Given the description of an element on the screen output the (x, y) to click on. 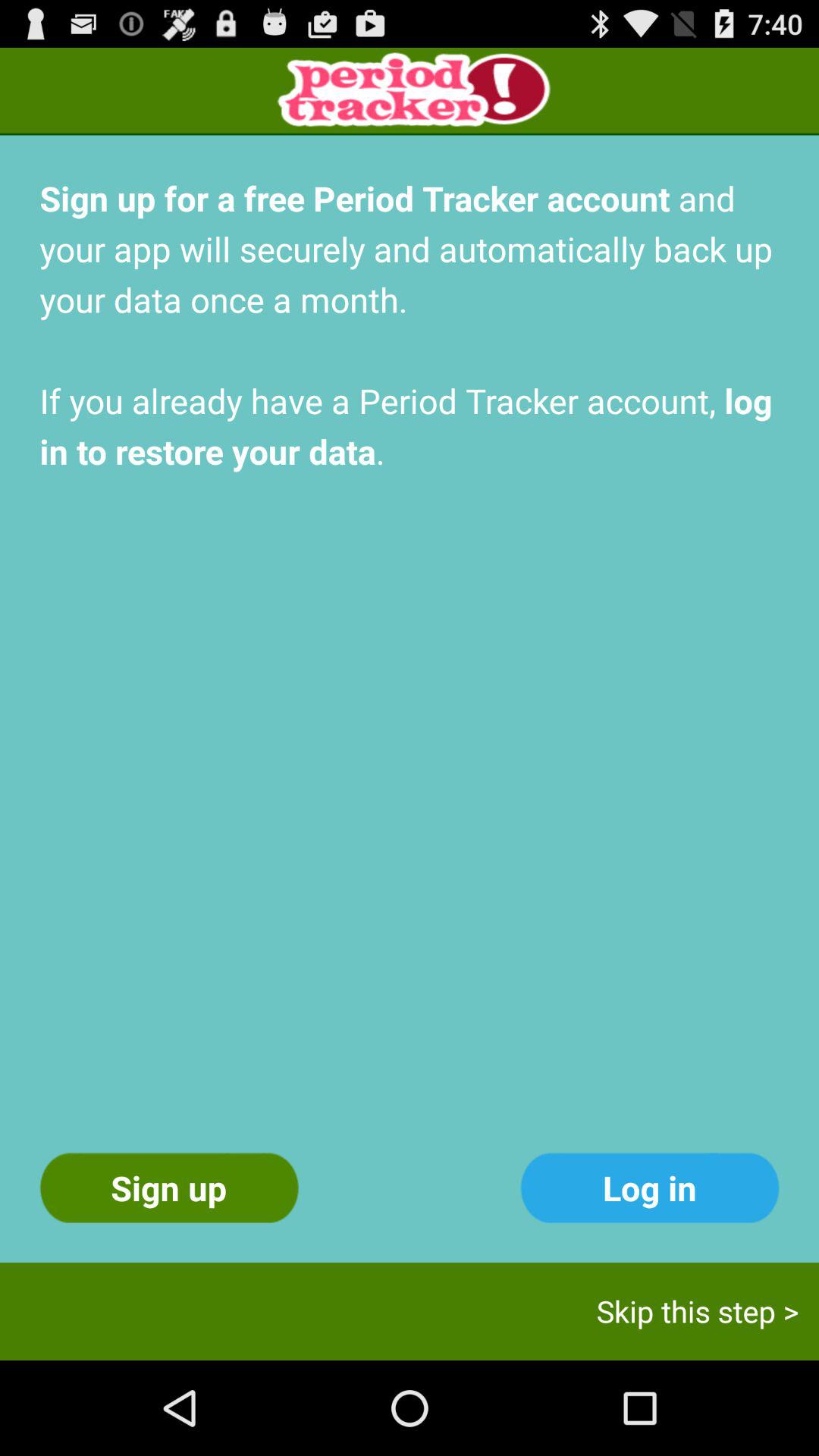
press item below the sign up for icon (649, 1187)
